Given the description of an element on the screen output the (x, y) to click on. 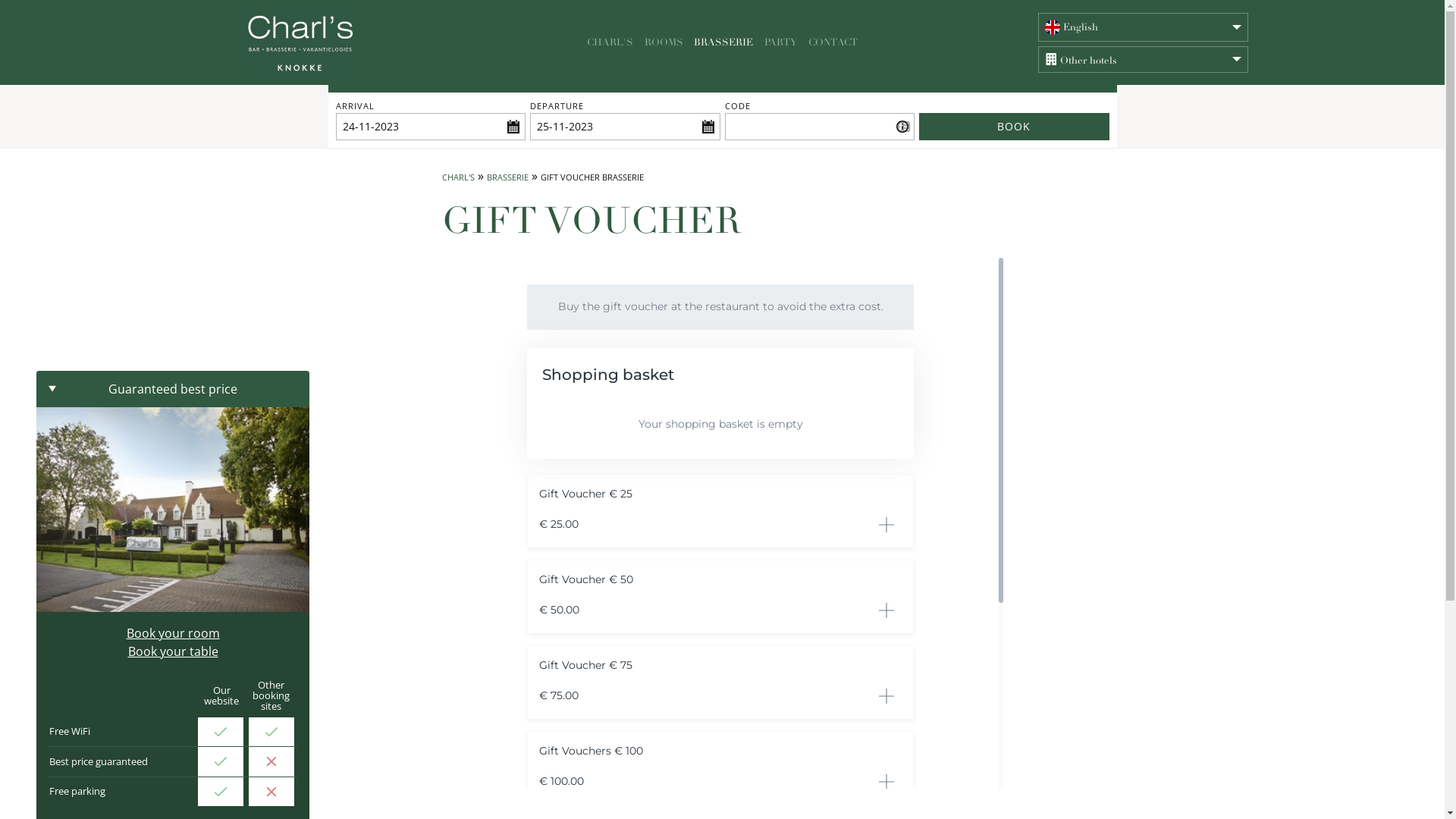
BRASSERIE Element type: text (507, 177)
Book your table Element type: text (172, 651)
Book Element type: text (1014, 126)
CHARL'S Element type: text (457, 177)
ROOMS Element type: text (663, 42)
Book your room Element type: text (172, 632)
BRASSERIE Element type: text (723, 42)
Guaranteed best price Element type: text (172, 388)
GIFT VOUCHER BRASSERIE Element type: text (591, 177)
CONTACT Element type: text (832, 42)
CHARL'S Element type: text (610, 42)
PARTY Element type: text (780, 42)
